Given the description of an element on the screen output the (x, y) to click on. 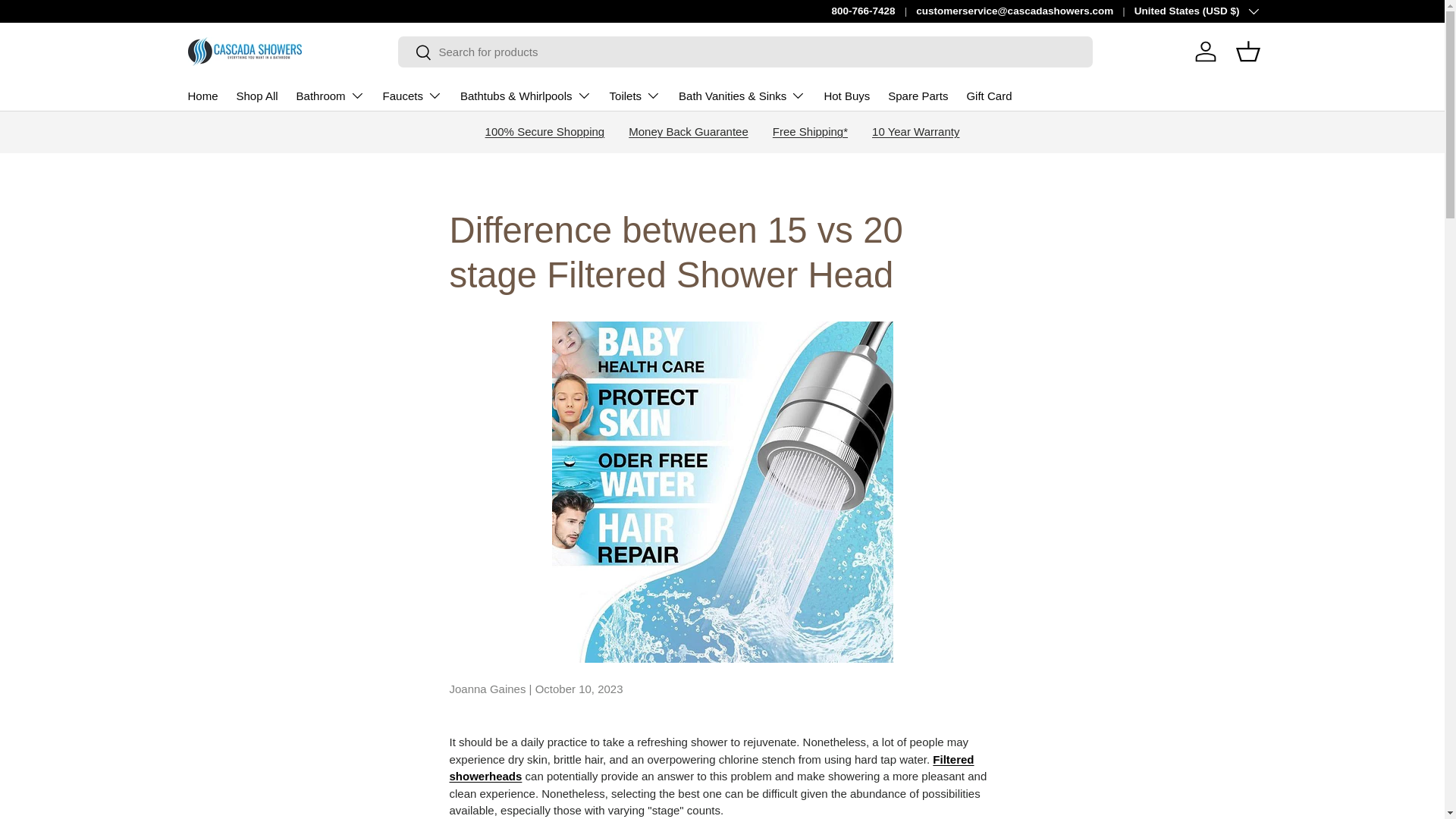
800-766-7428 (874, 11)
Basket (1248, 51)
filtered showerhead (711, 767)
Home (202, 95)
Shop All (256, 95)
Bathroom (331, 95)
Log in (1206, 51)
Skip to content (69, 21)
Search (413, 53)
